Given the description of an element on the screen output the (x, y) to click on. 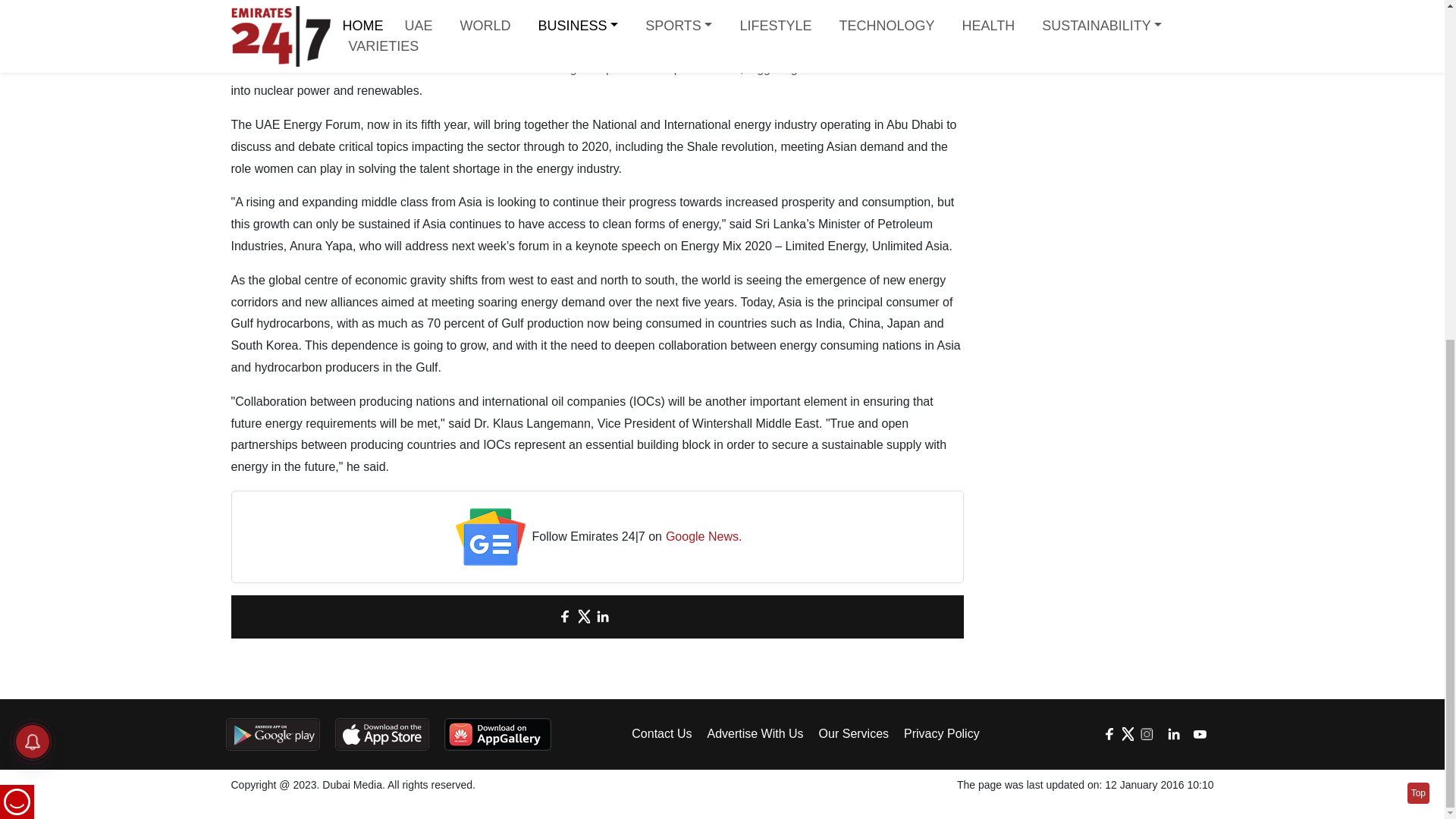
Google News. (703, 536)
